Given the description of an element on the screen output the (x, y) to click on. 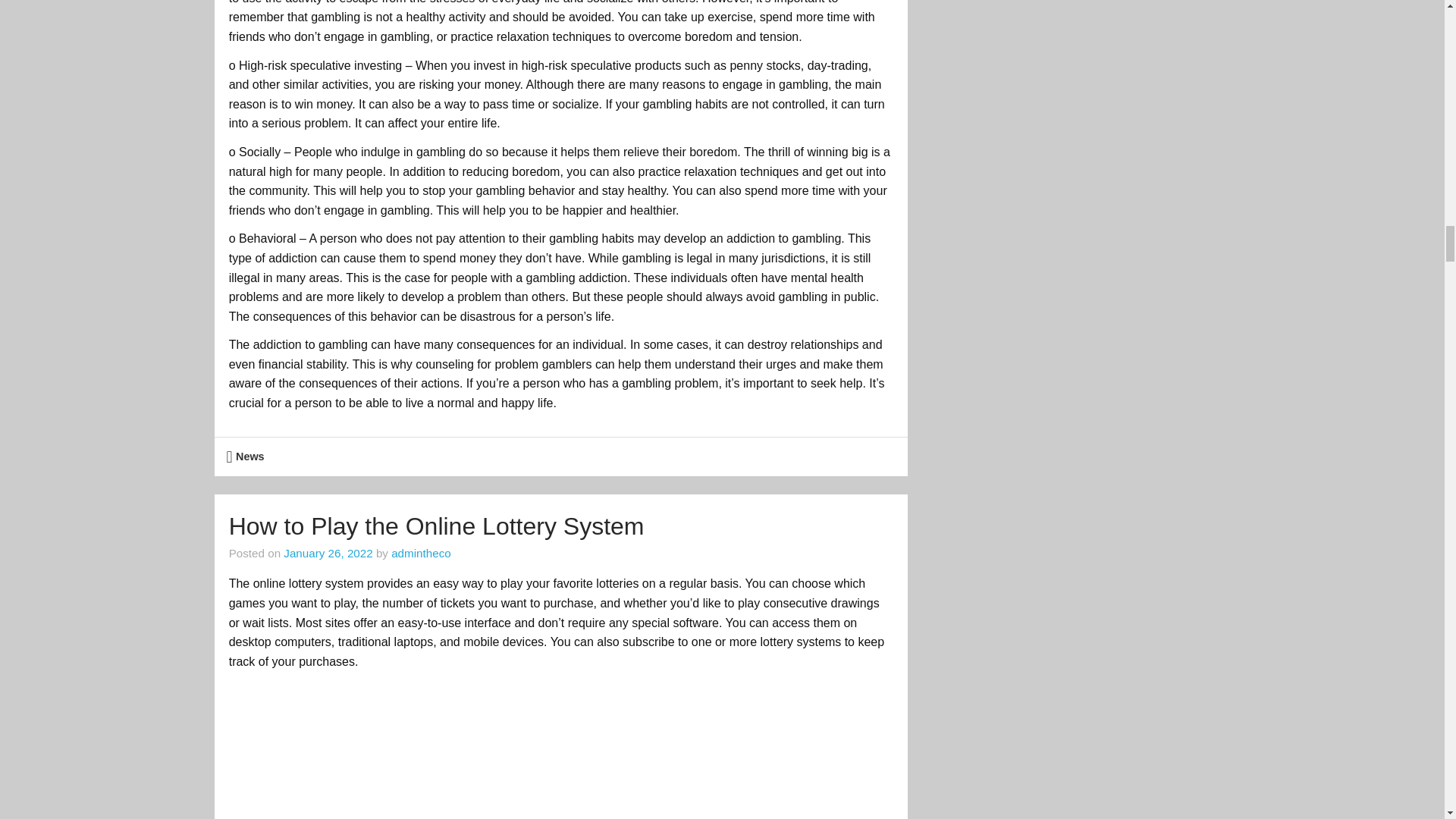
News (249, 456)
admintheco (421, 553)
How to Play the Online Lottery System (436, 525)
7:26 am (327, 553)
View all posts by admintheco (421, 553)
January 26, 2022 (327, 553)
